Given the description of an element on the screen output the (x, y) to click on. 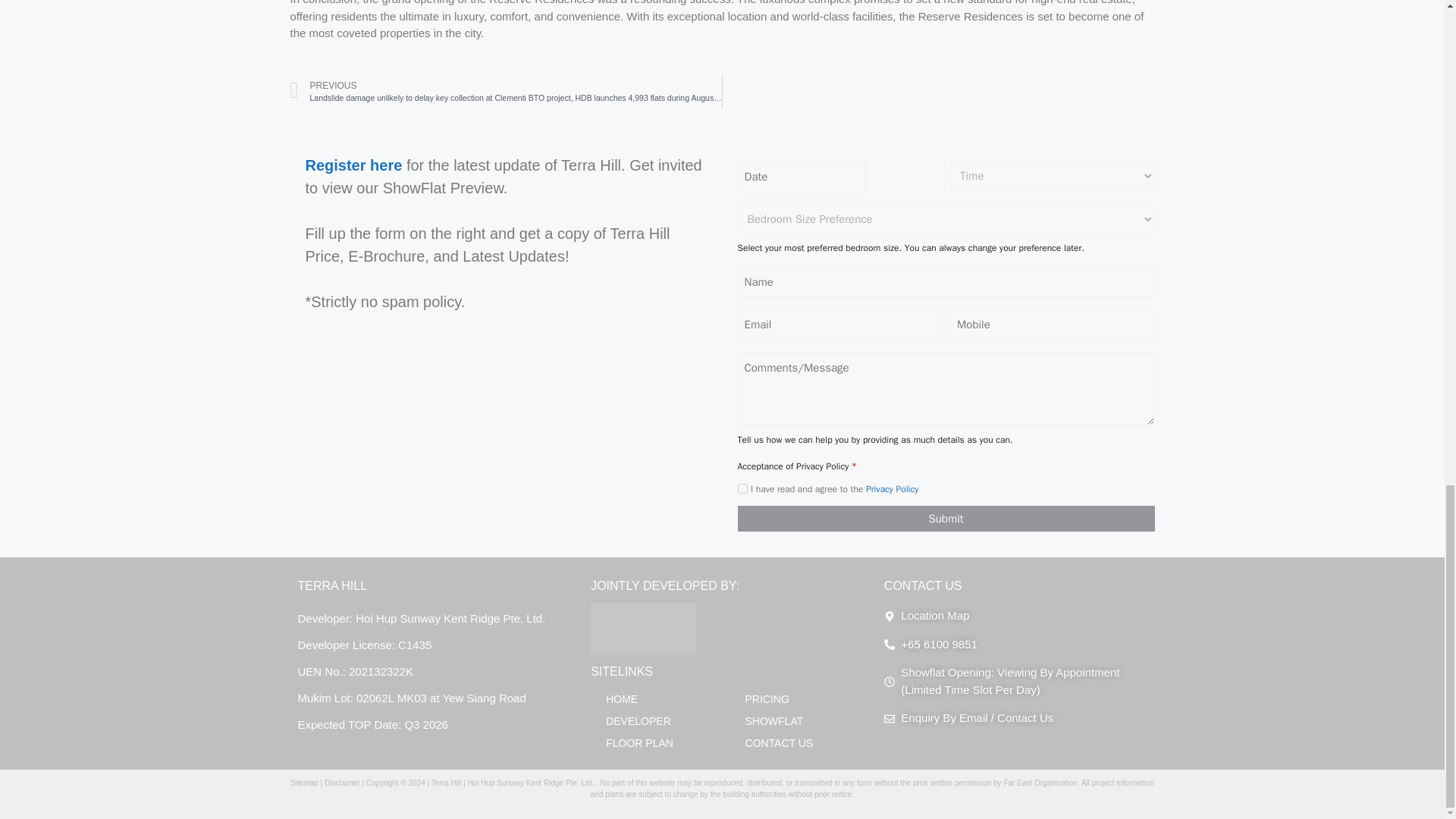
Submit (945, 519)
